Given the description of an element on the screen output the (x, y) to click on. 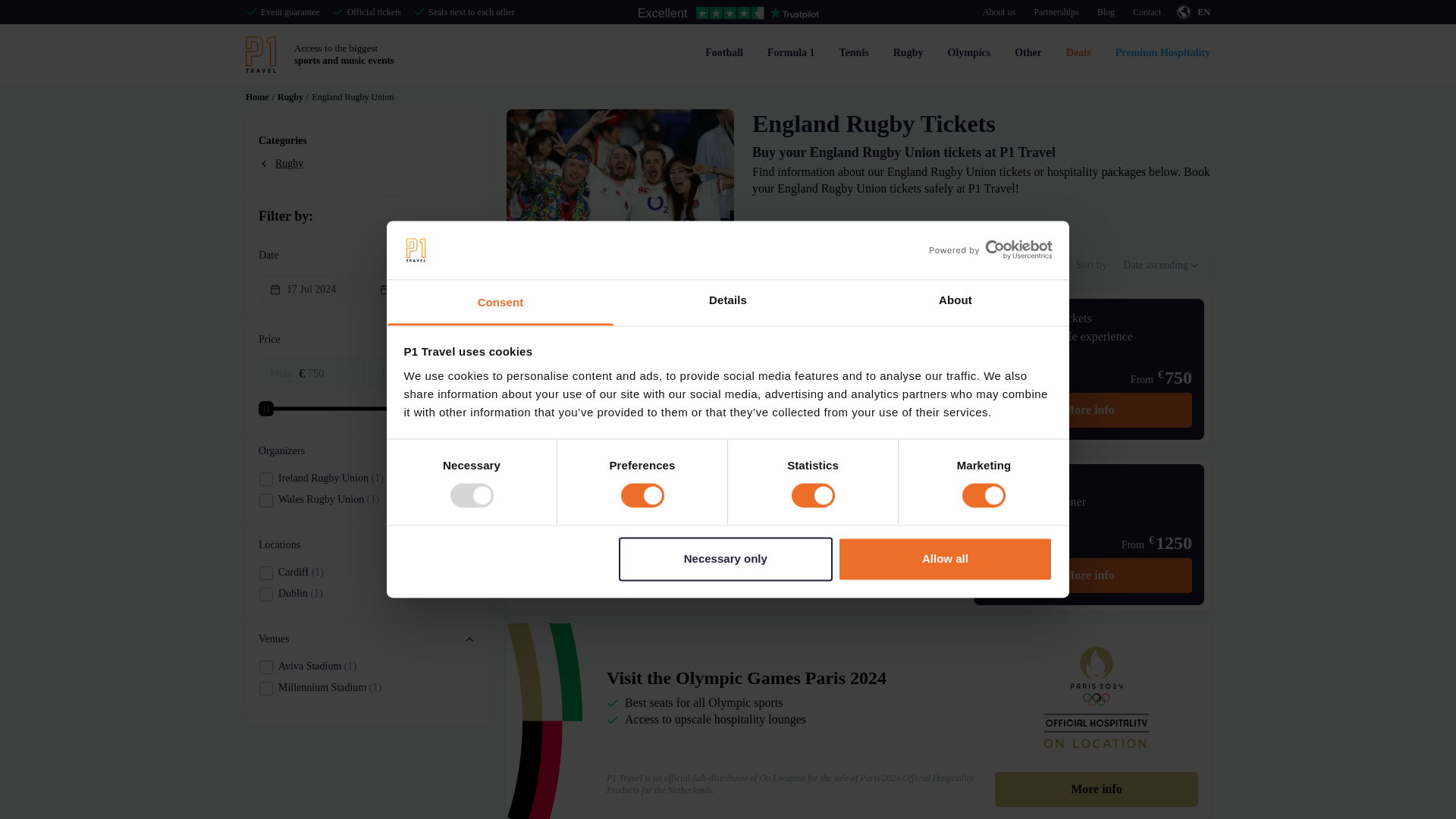
About (954, 302)
Details (727, 302)
750 (334, 373)
Consent (500, 302)
1250 (438, 373)
